Given the description of an element on the screen output the (x, y) to click on. 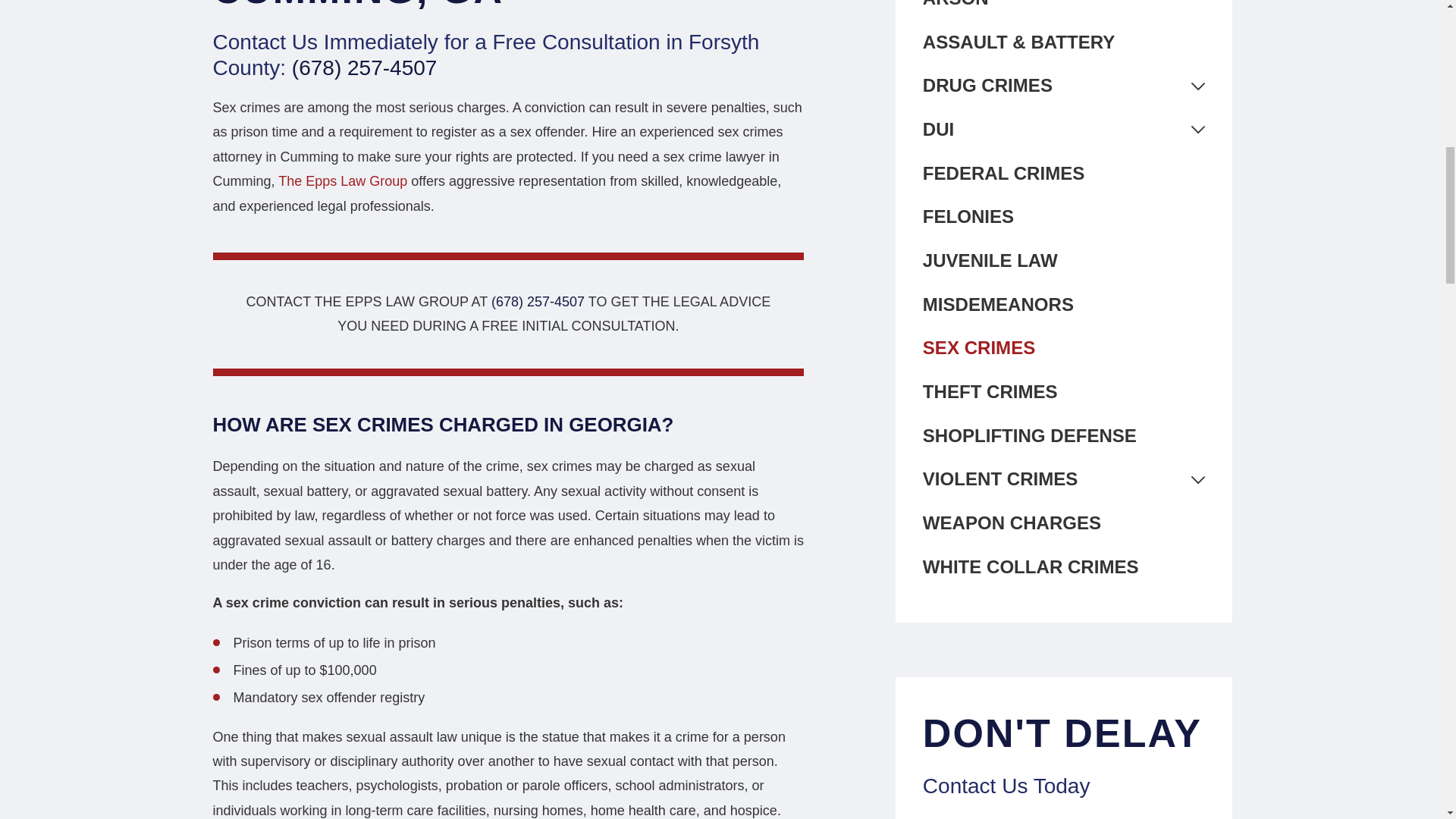
Open child menu of Violent Crimes  (1197, 479)
Open child menu of DUI  (1197, 129)
Open child menu of Drug Crimes (1197, 86)
